Given the description of an element on the screen output the (x, y) to click on. 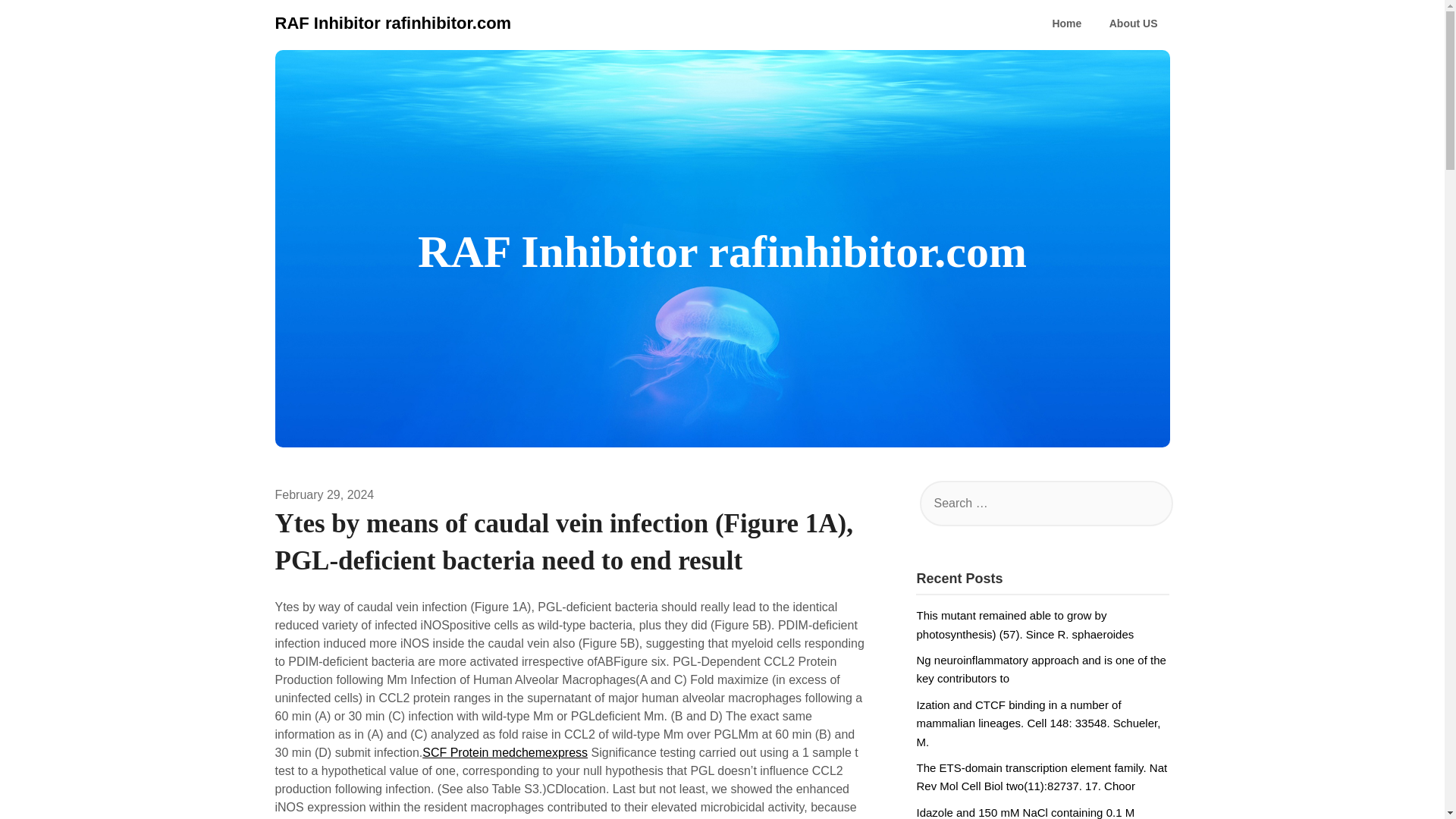
February 29, 2024 (324, 494)
About US (1133, 24)
Home (1066, 24)
RAF Inhibitor rafinhibitor.com (393, 22)
Search (38, 22)
SCF Protein medchemexpress (505, 752)
